Given the description of an element on the screen output the (x, y) to click on. 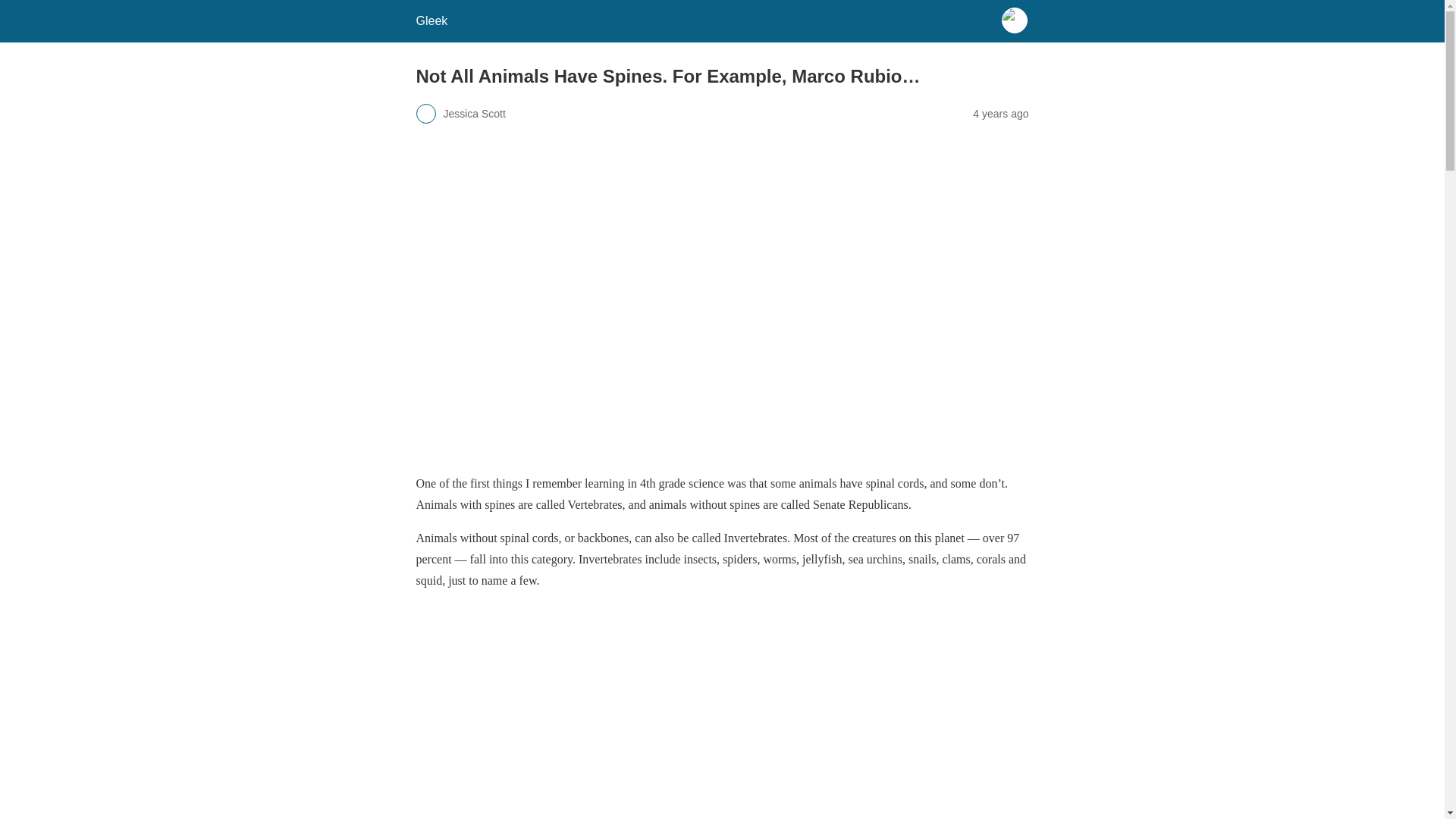
Gleek (430, 20)
